Given the description of an element on the screen output the (x, y) to click on. 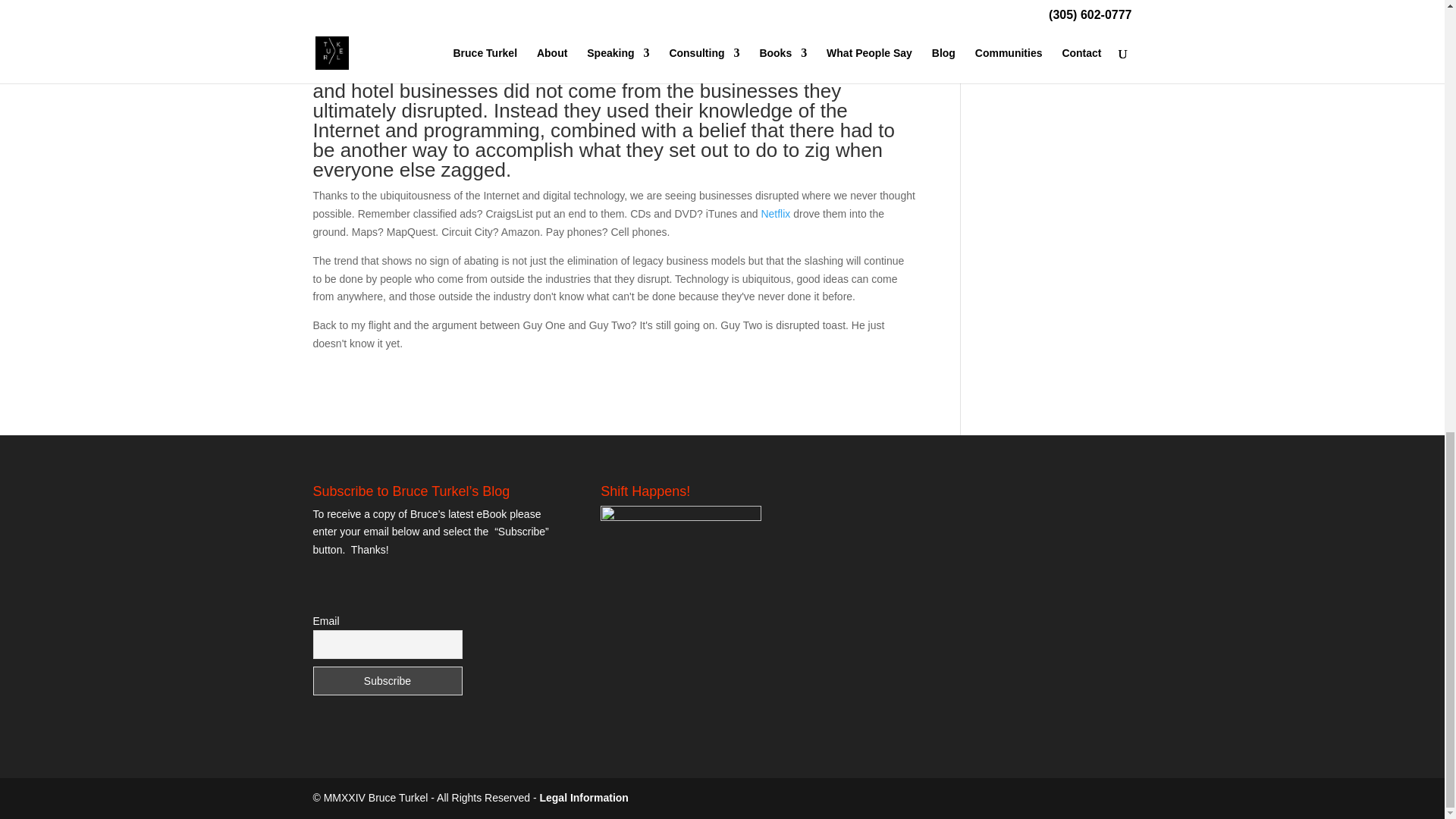
Subscribe (387, 680)
Posts tagged with Wyndham (594, 0)
Posts tagged with NetFlix (775, 214)
Wyndham (594, 0)
Netflix (775, 214)
